Given the description of an element on the screen output the (x, y) to click on. 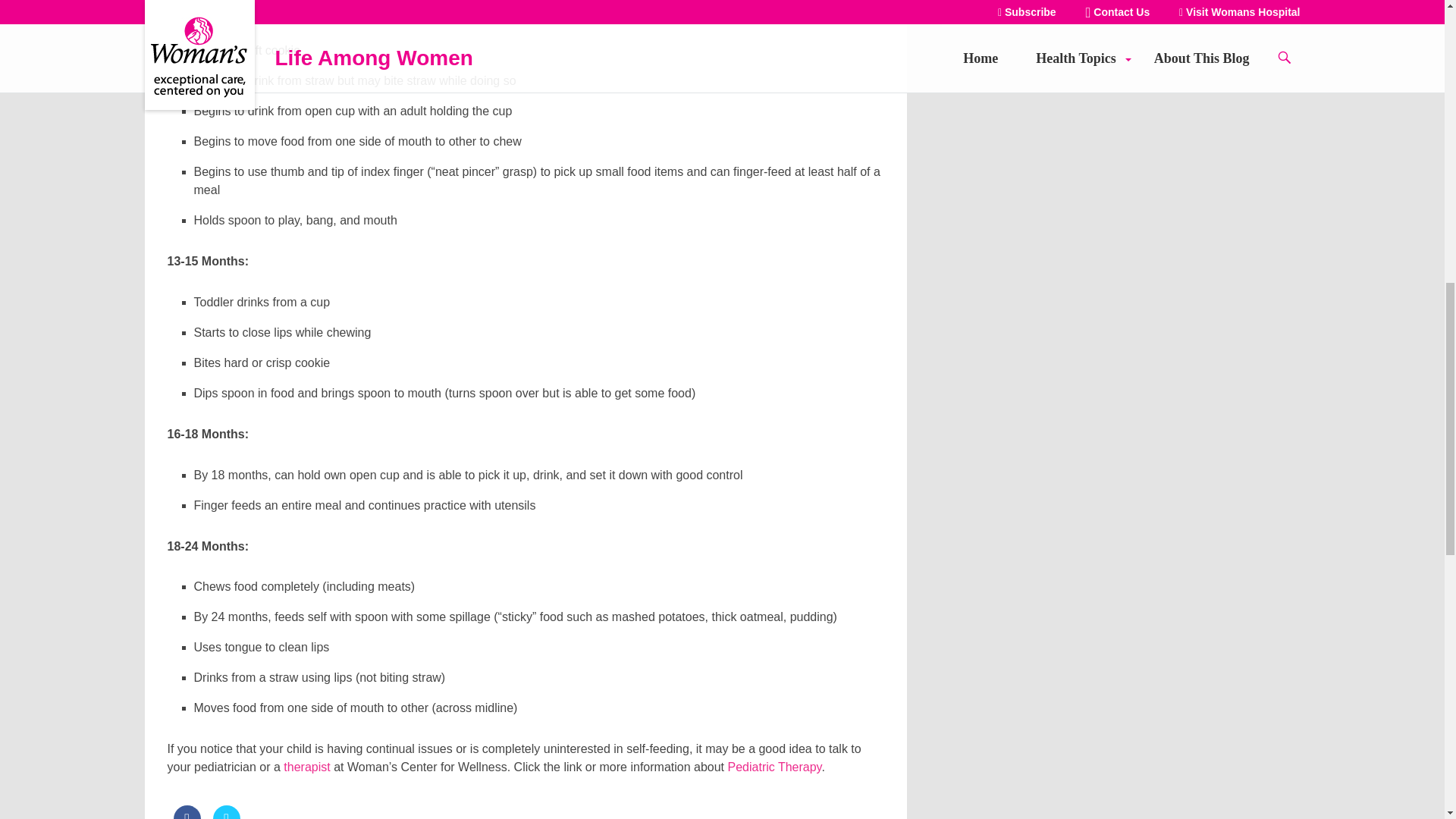
0 (226, 812)
0 (186, 812)
Share on Twitter (226, 812)
Pediatric Therapy (775, 766)
therapist (306, 766)
Share on Facebook (186, 812)
